Given the description of an element on the screen output the (x, y) to click on. 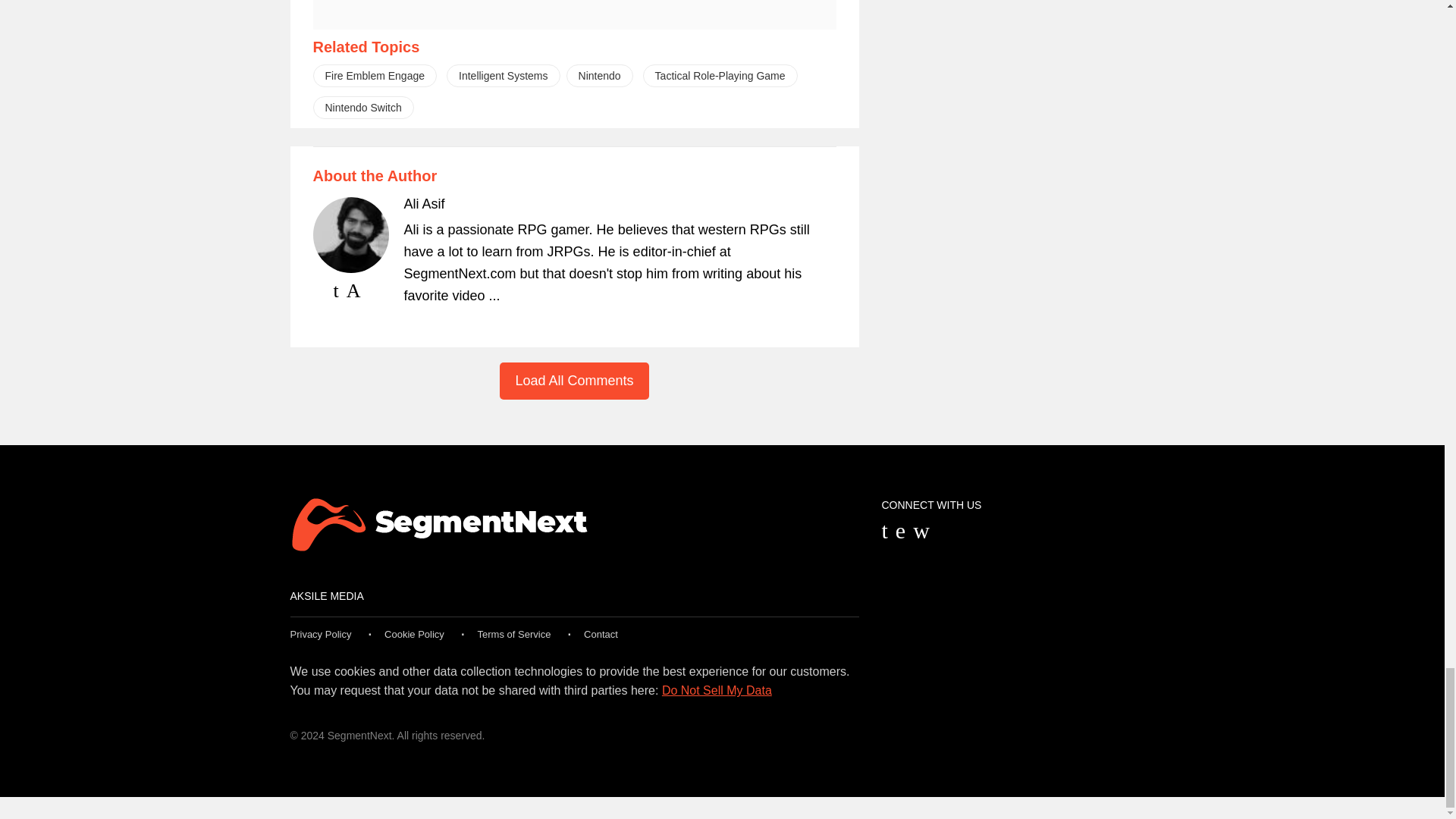
Ali Asif (423, 203)
Ali Asif (423, 203)
Intelligent Systems (503, 75)
Tactical Role-Playing Game (720, 75)
Nintendo (599, 75)
Nintendo Switch (363, 107)
Fire Emblem Engage (374, 75)
